Given the description of an element on the screen output the (x, y) to click on. 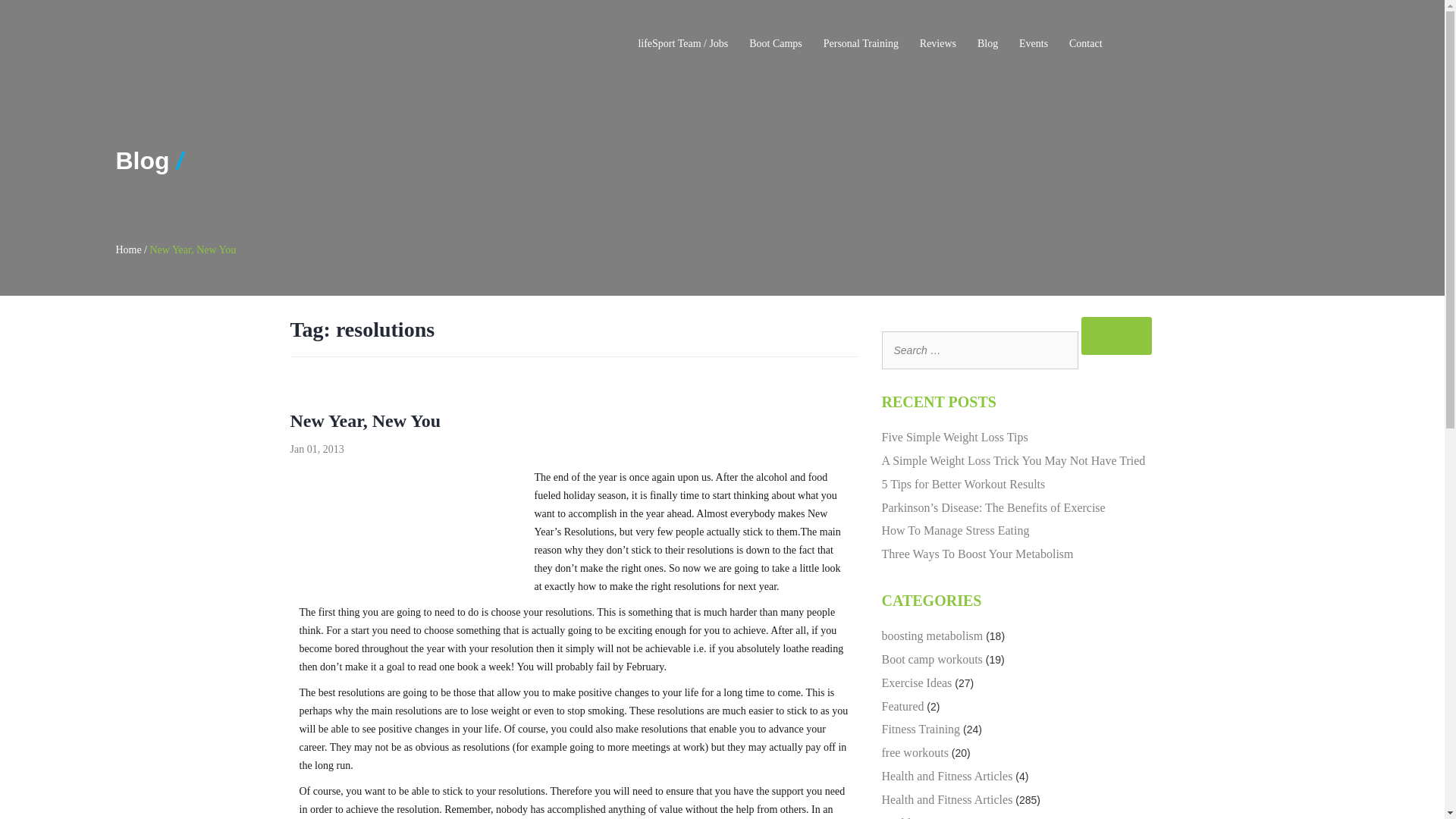
Contact (1085, 44)
LifeSport Fitness (376, 43)
New Year, New You (192, 249)
Search (1117, 335)
Personal Training (860, 44)
Blog (987, 44)
Boot Camps (775, 44)
Reviews (937, 44)
Home (128, 249)
New Year, New You (365, 420)
Events (1033, 44)
